Given the description of an element on the screen output the (x, y) to click on. 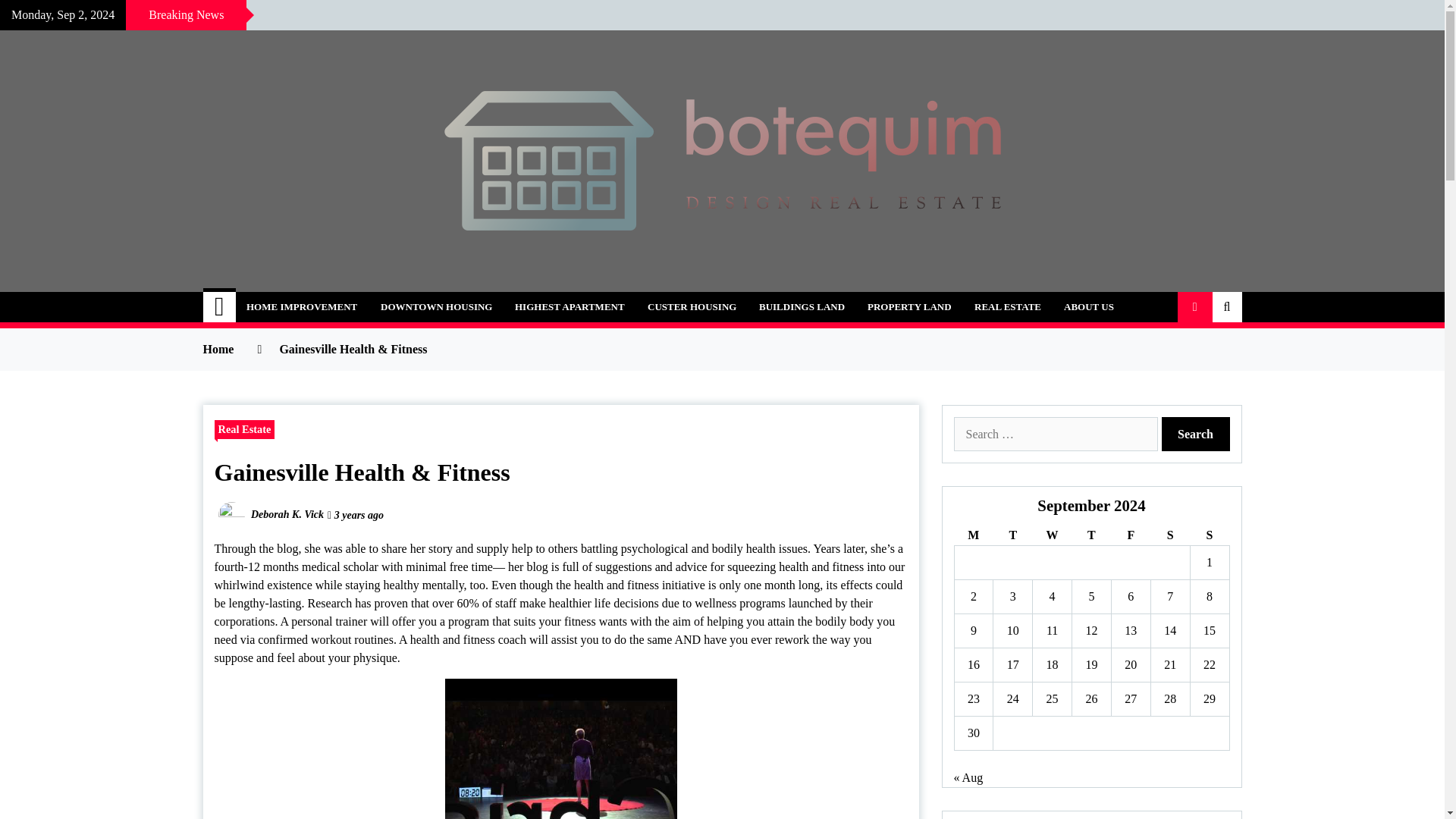
Tuesday (1012, 535)
Search (1195, 433)
Botequim (274, 298)
HOME IMPROVEMENT (301, 306)
Sunday (1208, 535)
ABOUT US (1088, 306)
HIGHEST APARTMENT (569, 306)
REAL ESTATE (1007, 306)
Search (1195, 433)
Thursday (1091, 535)
